Given the description of an element on the screen output the (x, y) to click on. 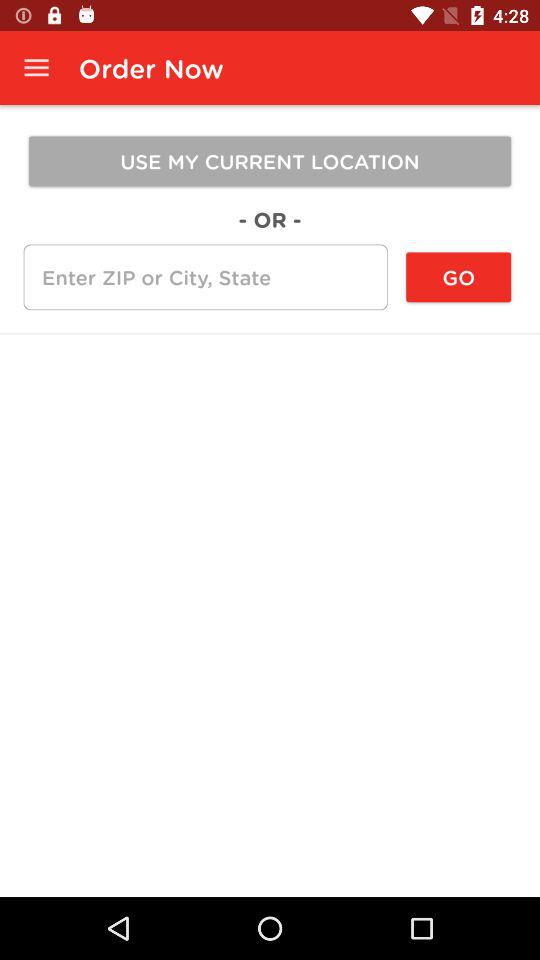
press the icon below the use my current icon (458, 277)
